Given the description of an element on the screen output the (x, y) to click on. 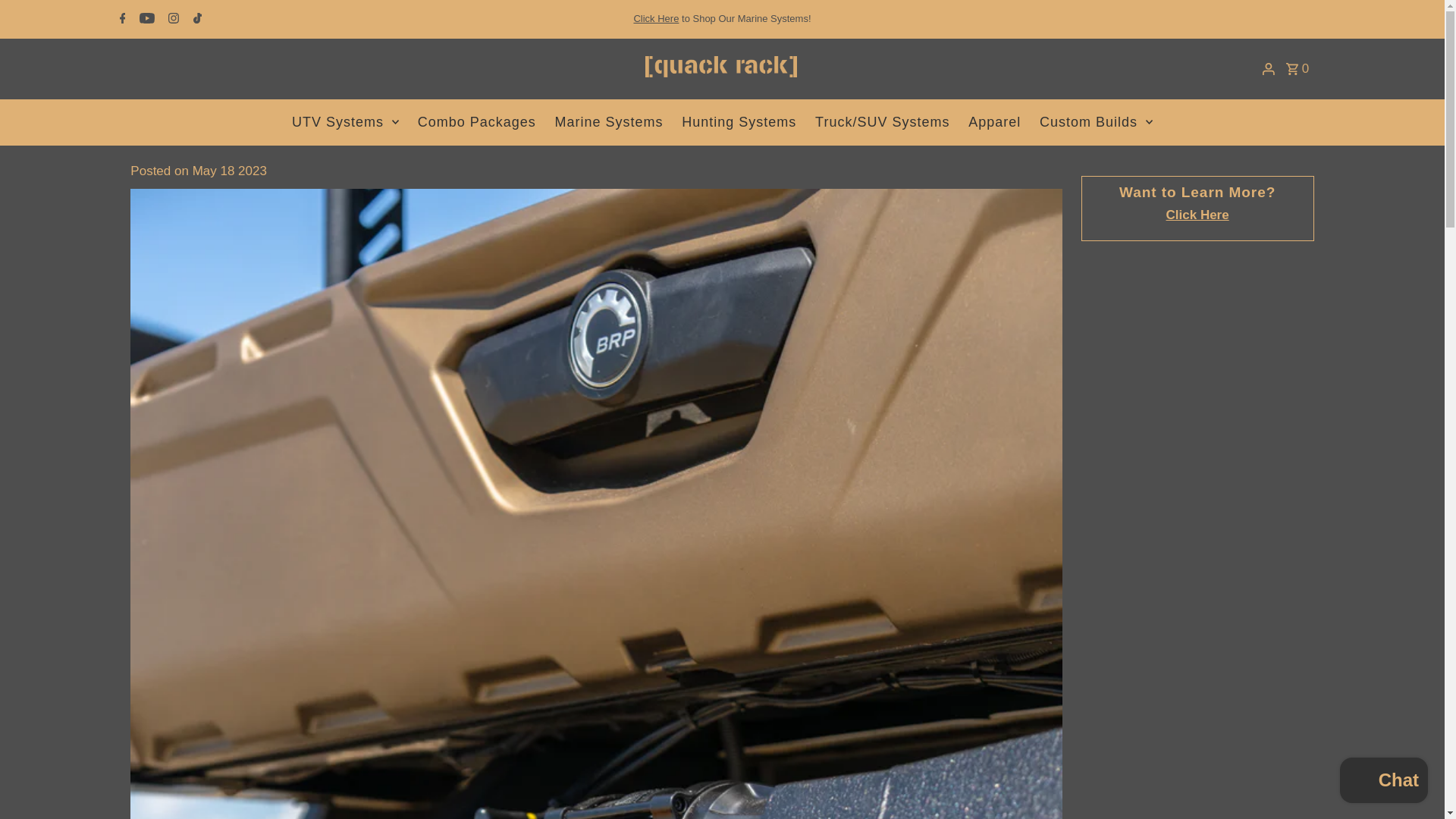
Combo Packages (476, 121)
Quack Rack News (1197, 214)
Click Here (655, 18)
UTV Systems (344, 121)
Hunting Systems (738, 121)
QR Marine Systems (655, 18)
Apparel (993, 121)
Custom Builds (1096, 121)
Marine Systems (609, 121)
